Given the description of an element on the screen output the (x, y) to click on. 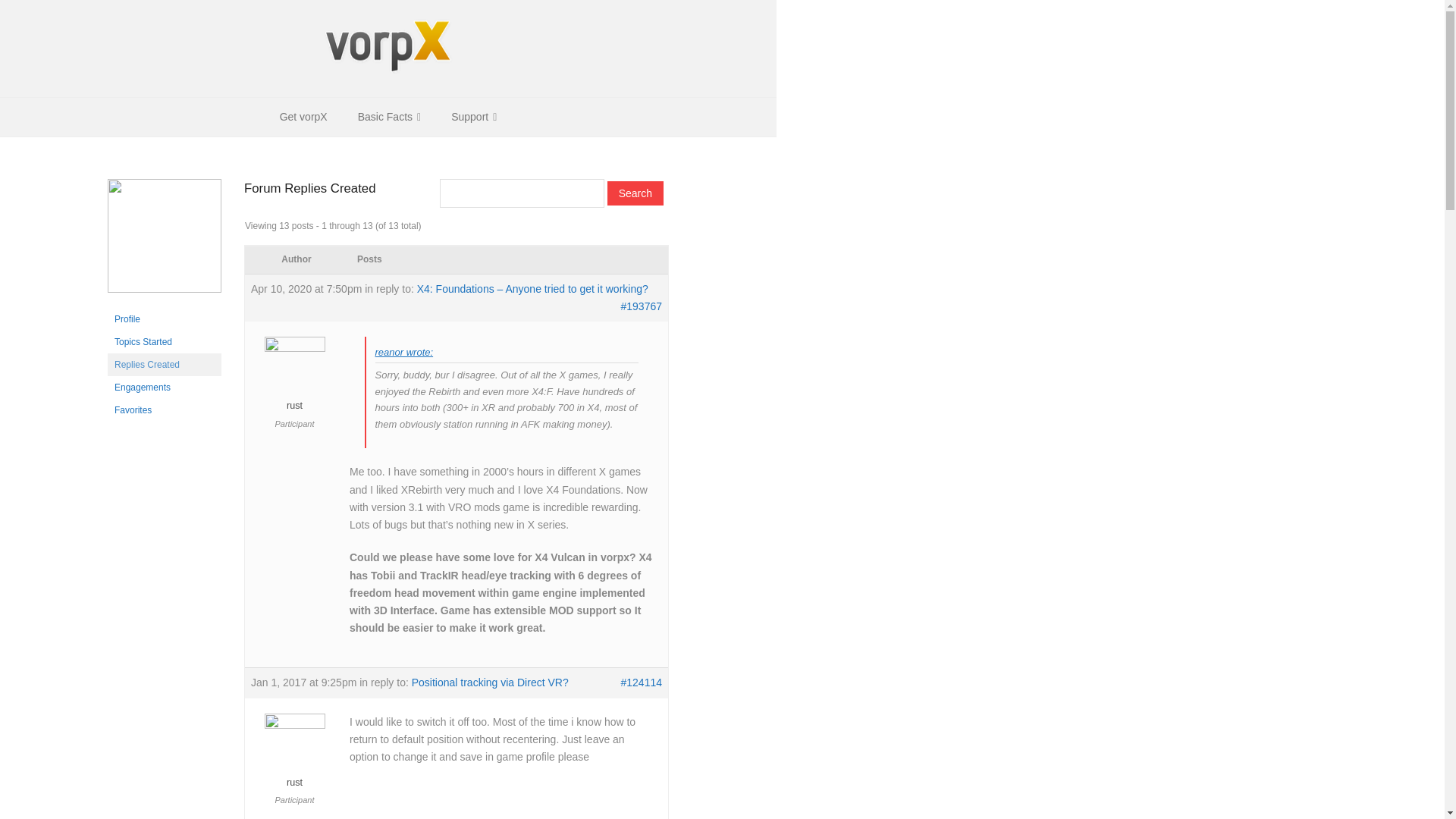
Topics Started (164, 341)
View rust's profile (293, 755)
rust's Replies Created (164, 363)
rust (293, 378)
Replies Created (164, 363)
Search (635, 192)
Engagements (164, 386)
Search (635, 192)
rust's Profile (164, 318)
Basic Facts (388, 116)
